Given the description of an element on the screen output the (x, y) to click on. 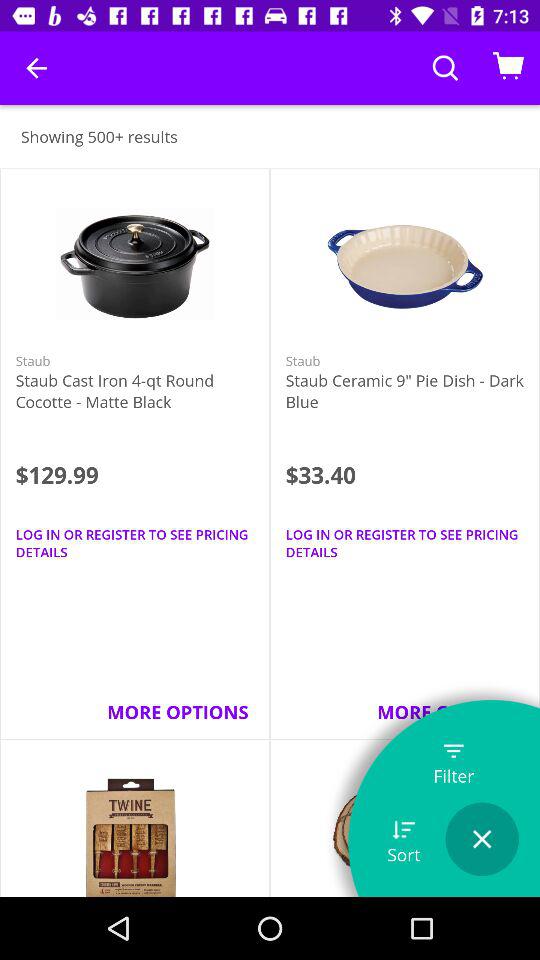
the option is used to close the page (482, 839)
